Given the description of an element on the screen output the (x, y) to click on. 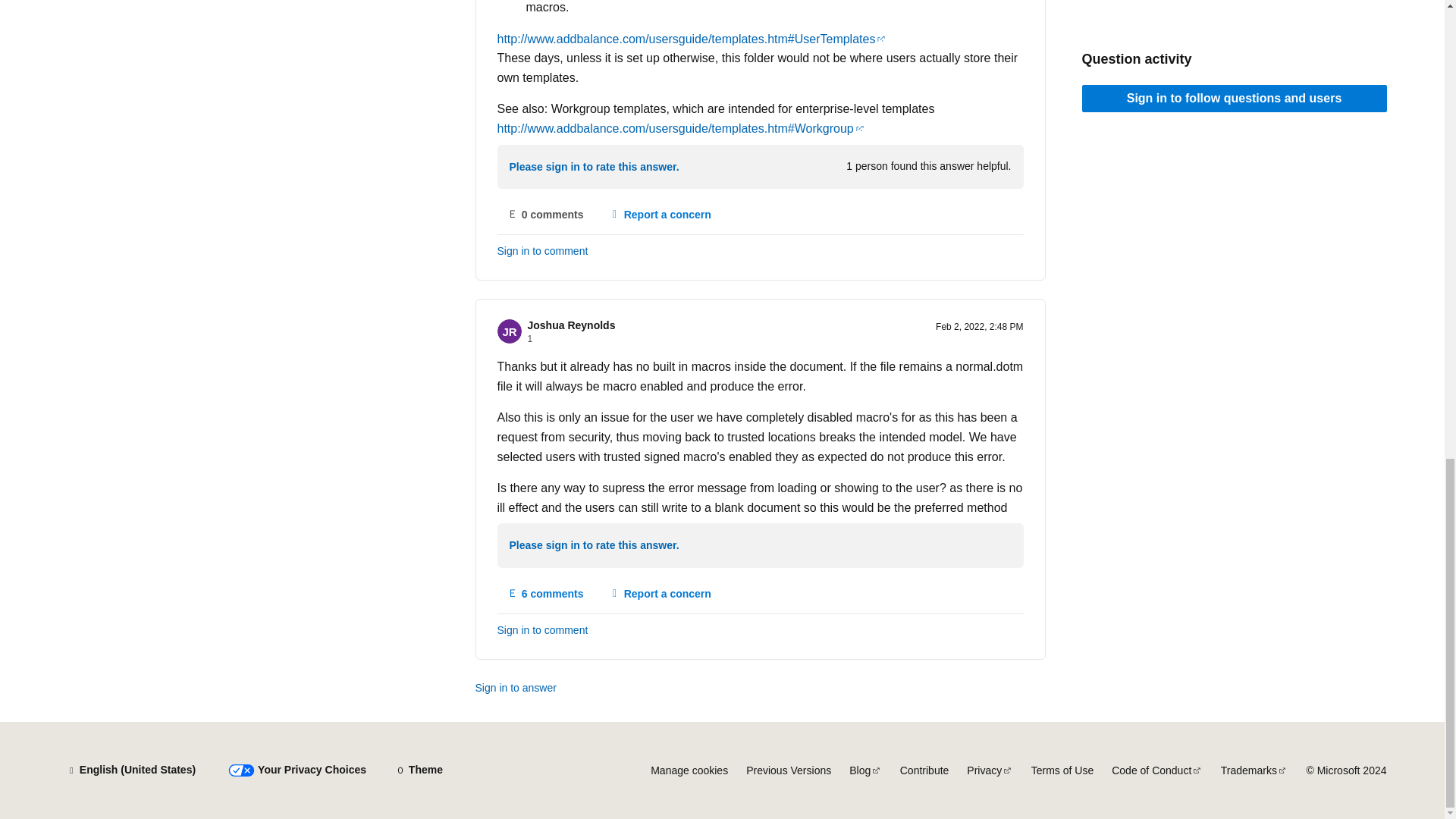
Report a concern (659, 214)
No comments (545, 214)
